Given the description of an element on the screen output the (x, y) to click on. 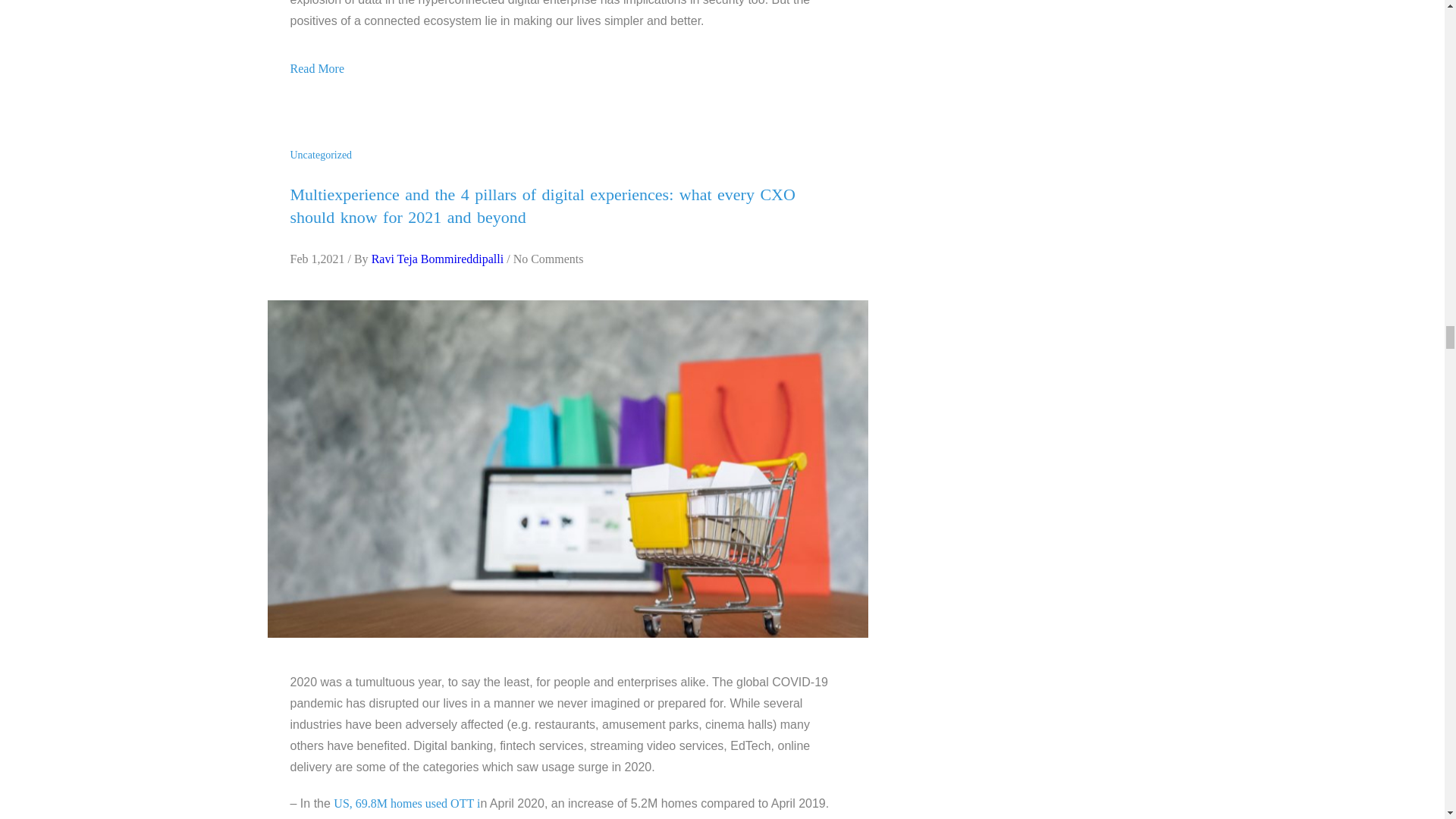
Posts by Ravi Teja Bommireddipalli (437, 258)
